Given the description of an element on the screen output the (x, y) to click on. 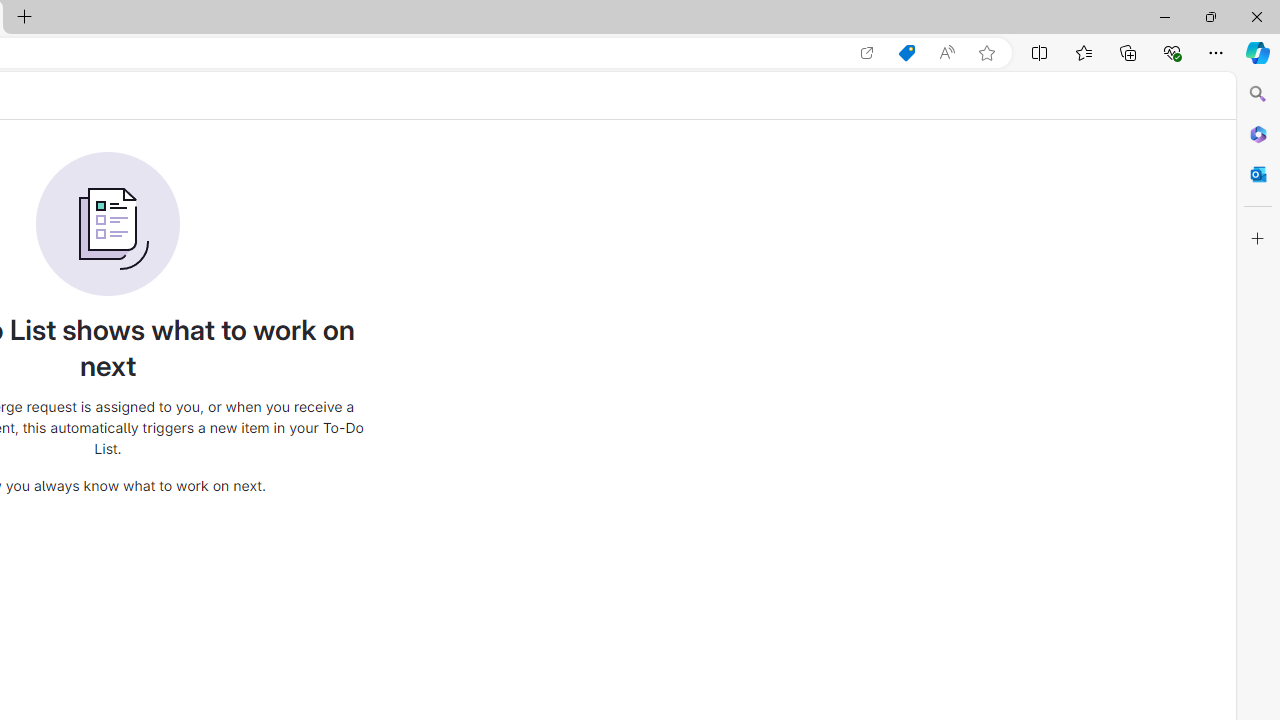
Open in app (867, 53)
